Given the description of an element on the screen output the (x, y) to click on. 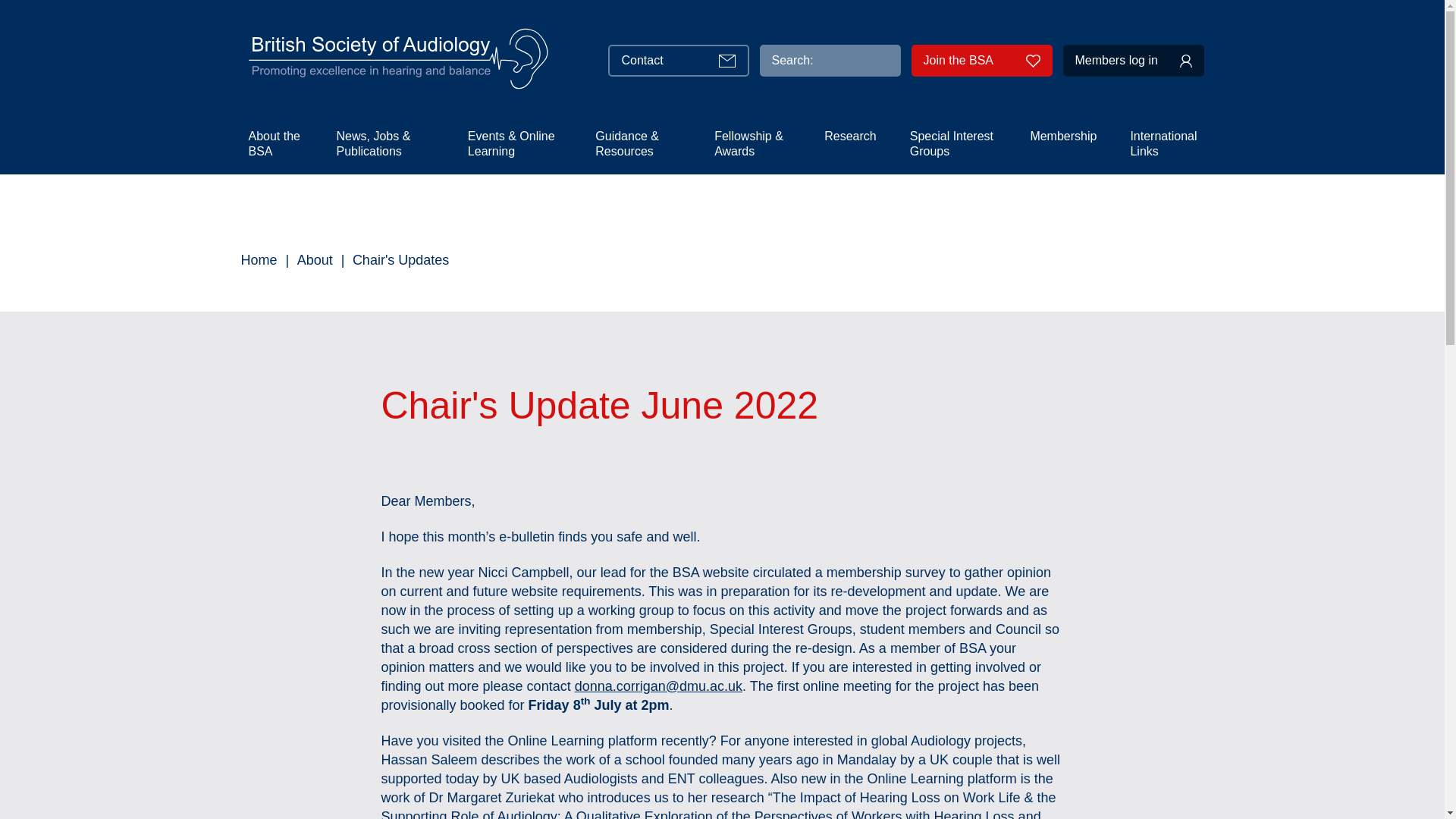
Contact (678, 60)
About the BSA (274, 143)
Join the BSA (981, 60)
Return to the homepage (398, 60)
Research (850, 135)
Members log in (1133, 60)
